Given the description of an element on the screen output the (x, y) to click on. 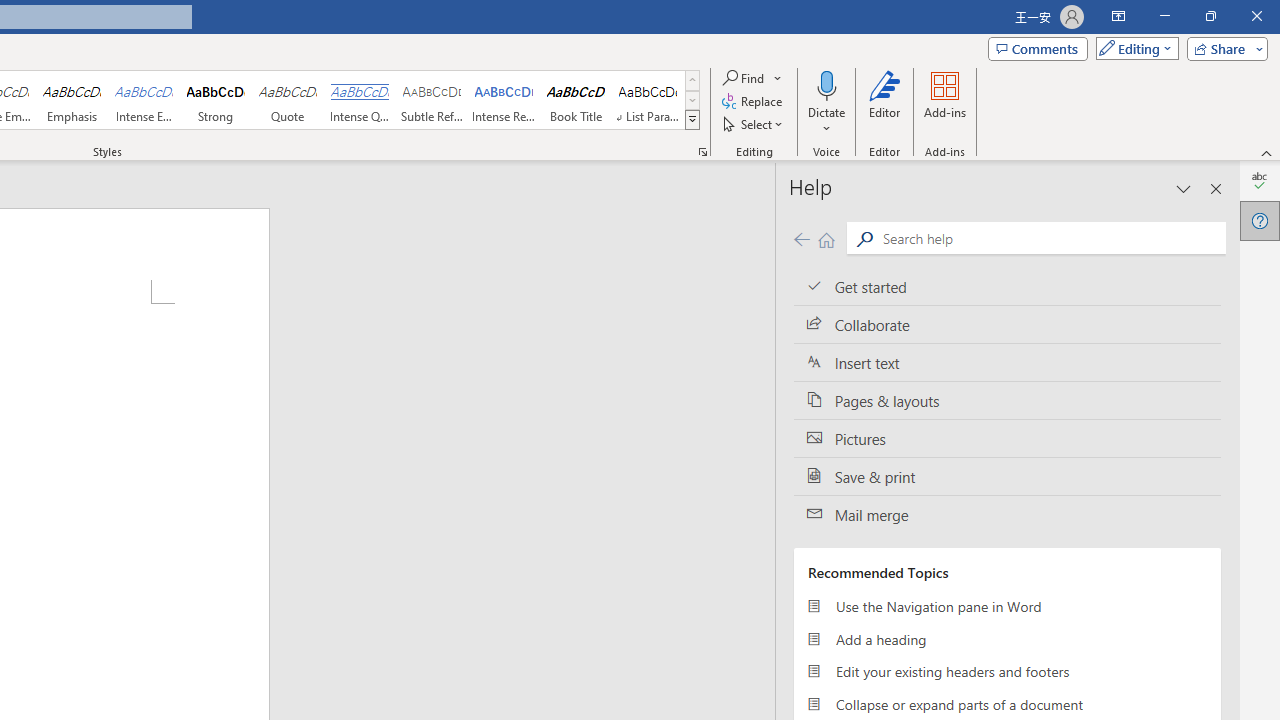
Mail merge (1007, 515)
Row up (692, 79)
Subtle Reference (431, 100)
Pictures (1007, 438)
Add a heading (1007, 638)
Emphasis (71, 100)
